Given the description of an element on the screen output the (x, y) to click on. 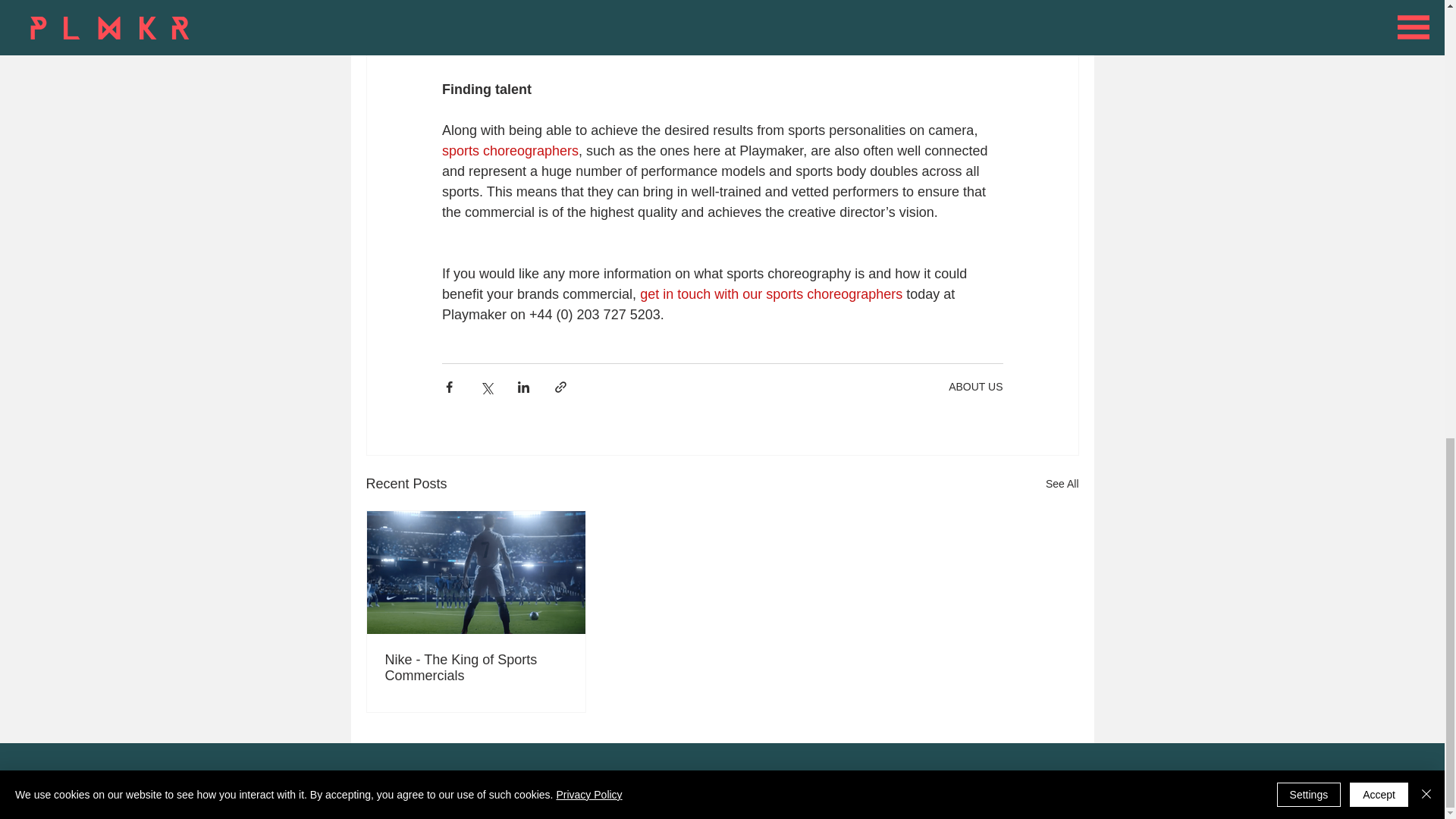
ABOUT US (976, 386)
get in touch with our sports choreographers (771, 294)
See All (1061, 484)
Privacy Policy (400, 778)
Nike - The King of Sports Commercials (476, 667)
sports choreographers (509, 150)
